Given the description of an element on the screen output the (x, y) to click on. 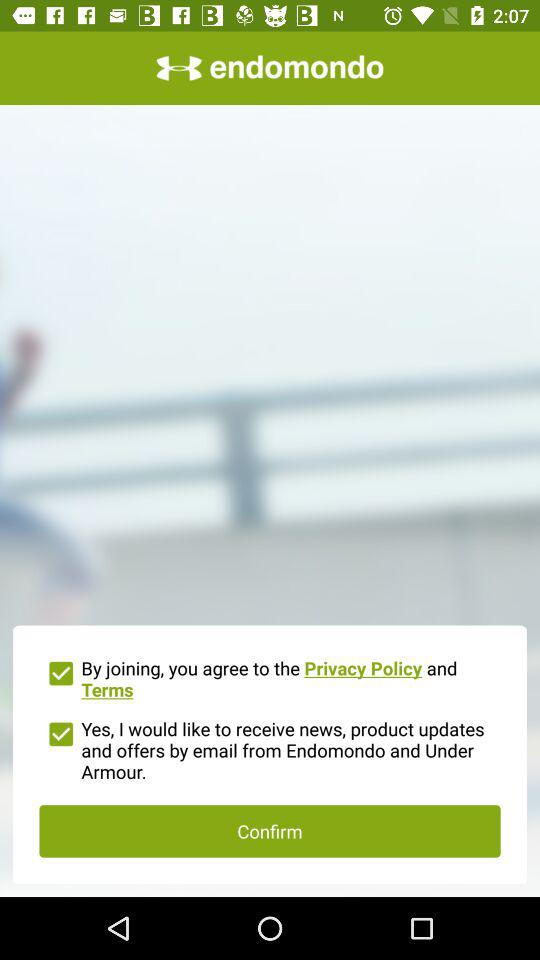
turn on the yes i would item (269, 748)
